Given the description of an element on the screen output the (x, y) to click on. 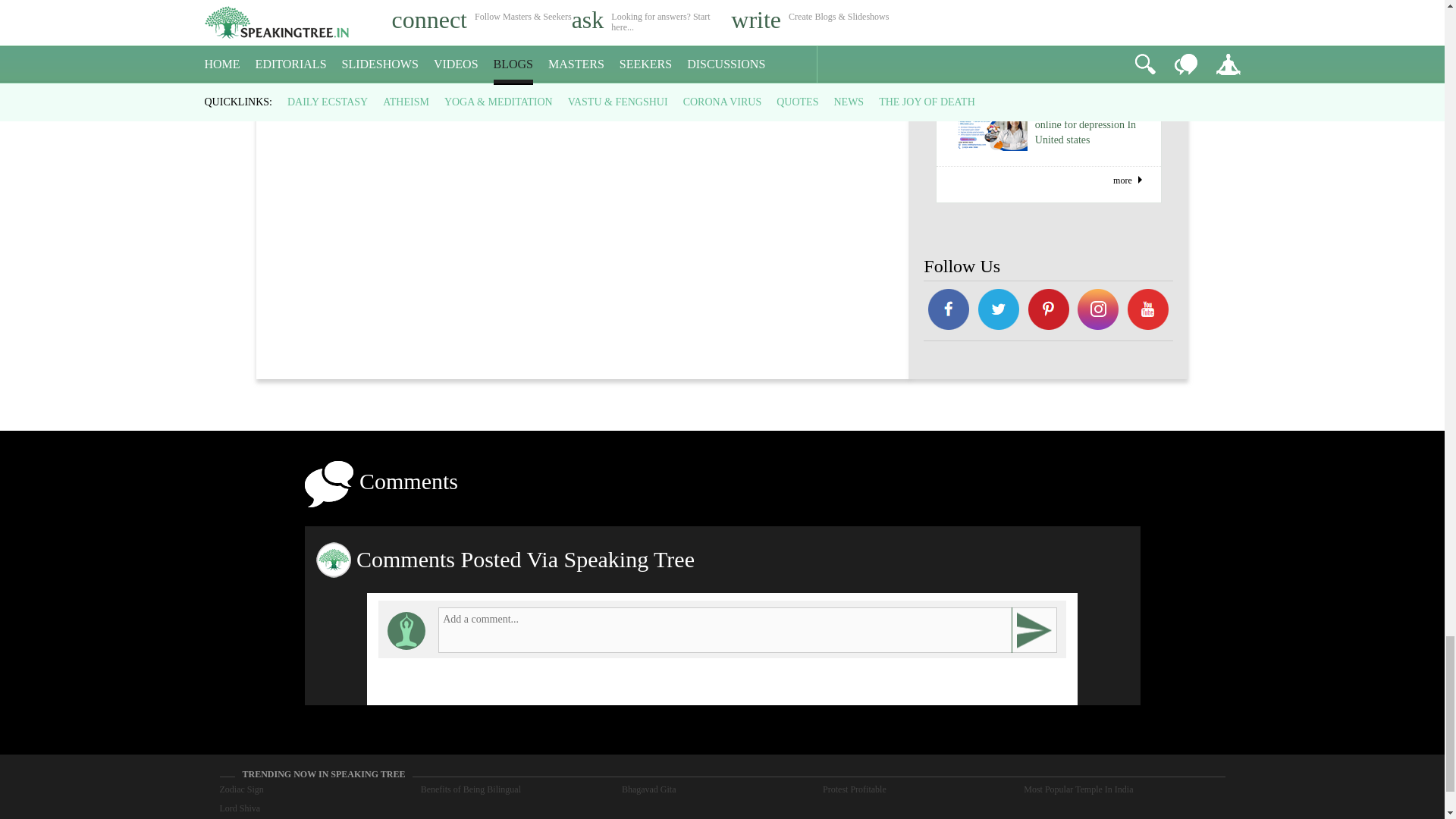
Speaking Tree FaceBook (998, 311)
Speaking Tree FaceBook (1099, 311)
Speaking Tree FaceBook (948, 311)
Speaking Tree FaceBook (1048, 311)
Speaking Tree FaceBook (1147, 311)
